Given the description of an element on the screen output the (x, y) to click on. 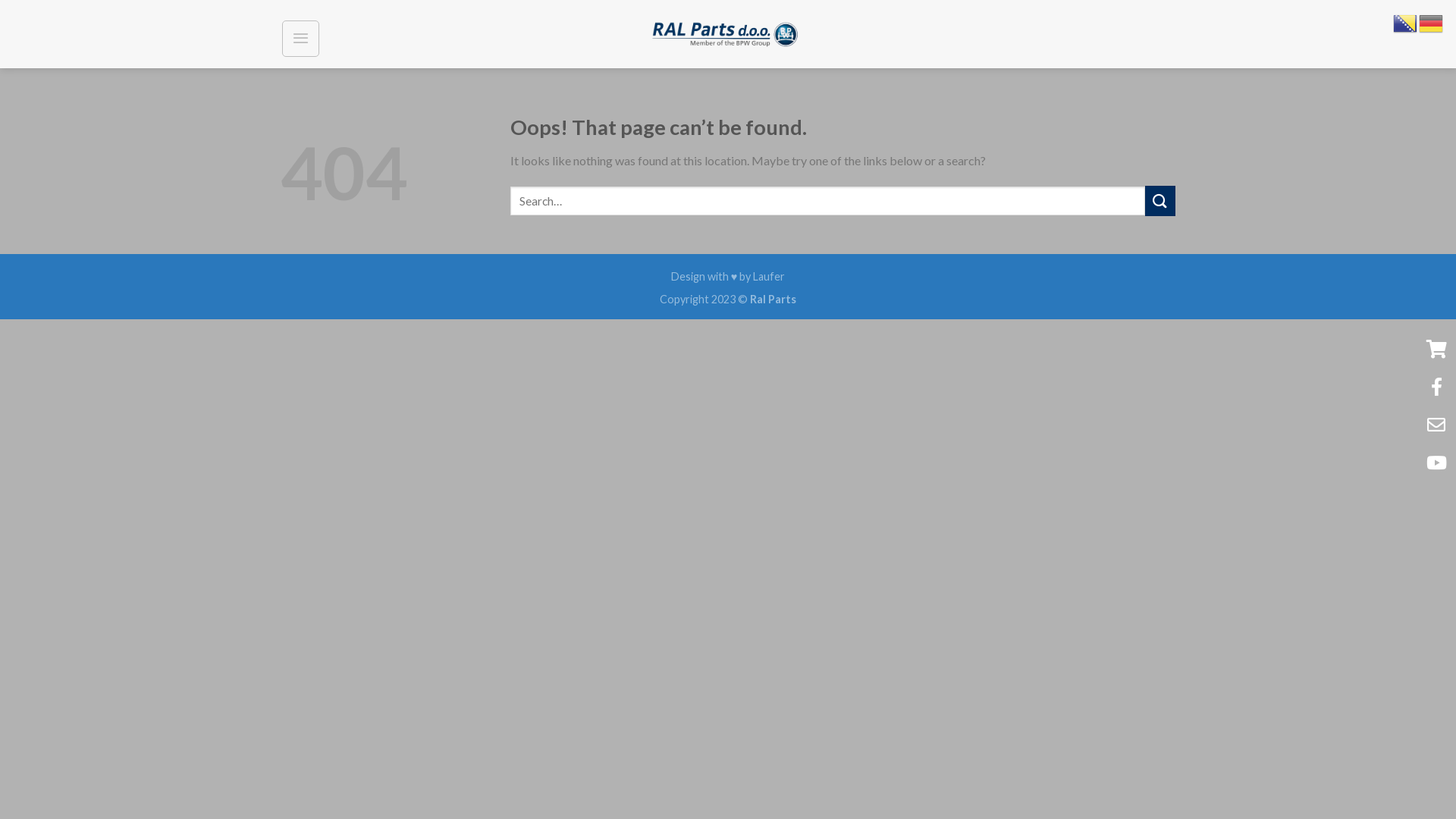
Ral Parts - Autodijelovi za teretna vozila Element type: hover (727, 33)
Bosnian Element type: hover (1405, 21)
Laufer Element type: text (768, 275)
German Element type: hover (1431, 21)
